Given the description of an element on the screen output the (x, y) to click on. 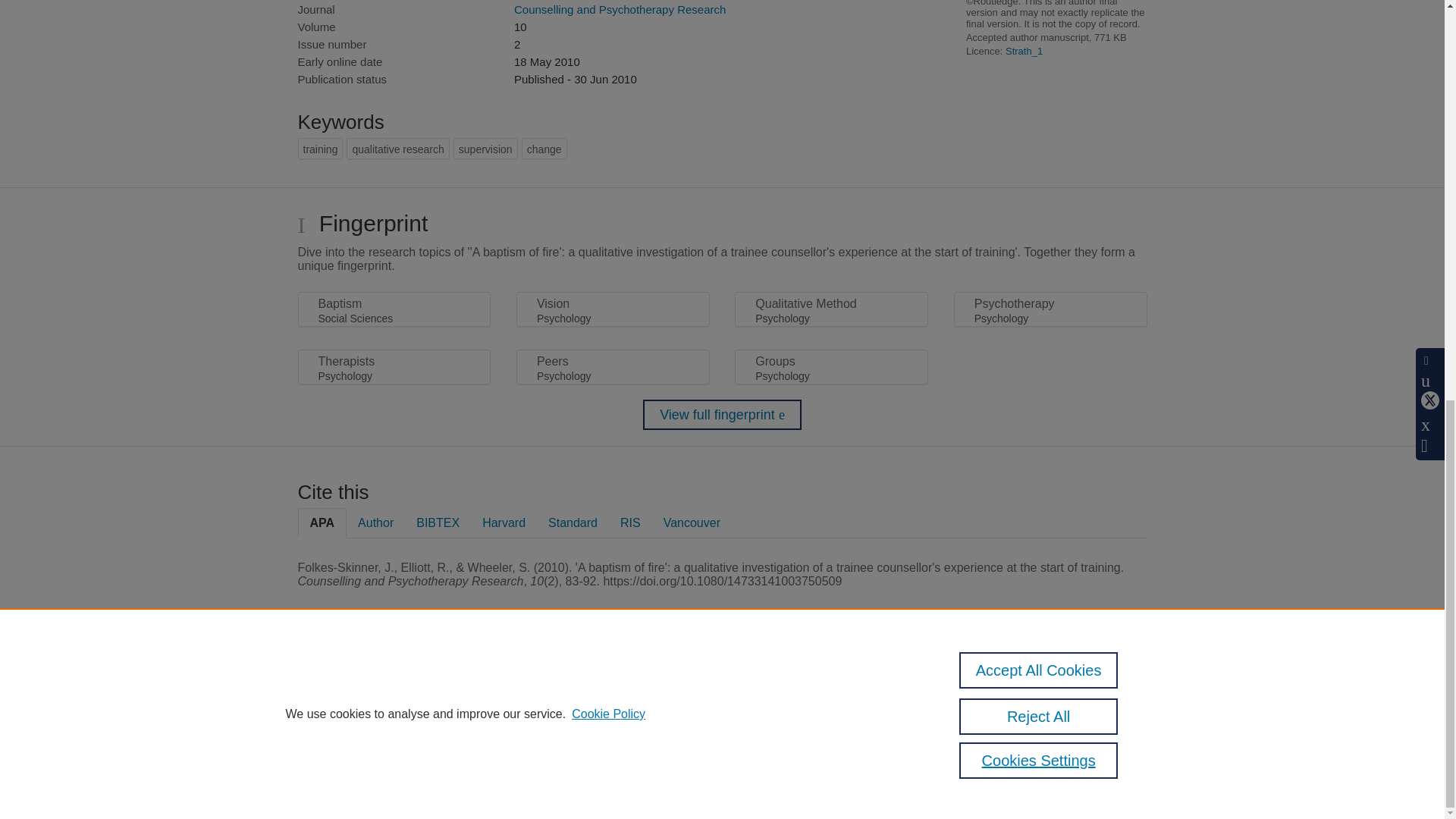
View full fingerprint (722, 414)
Counselling and Psychotherapy Research (619, 9)
